Given the description of an element on the screen output the (x, y) to click on. 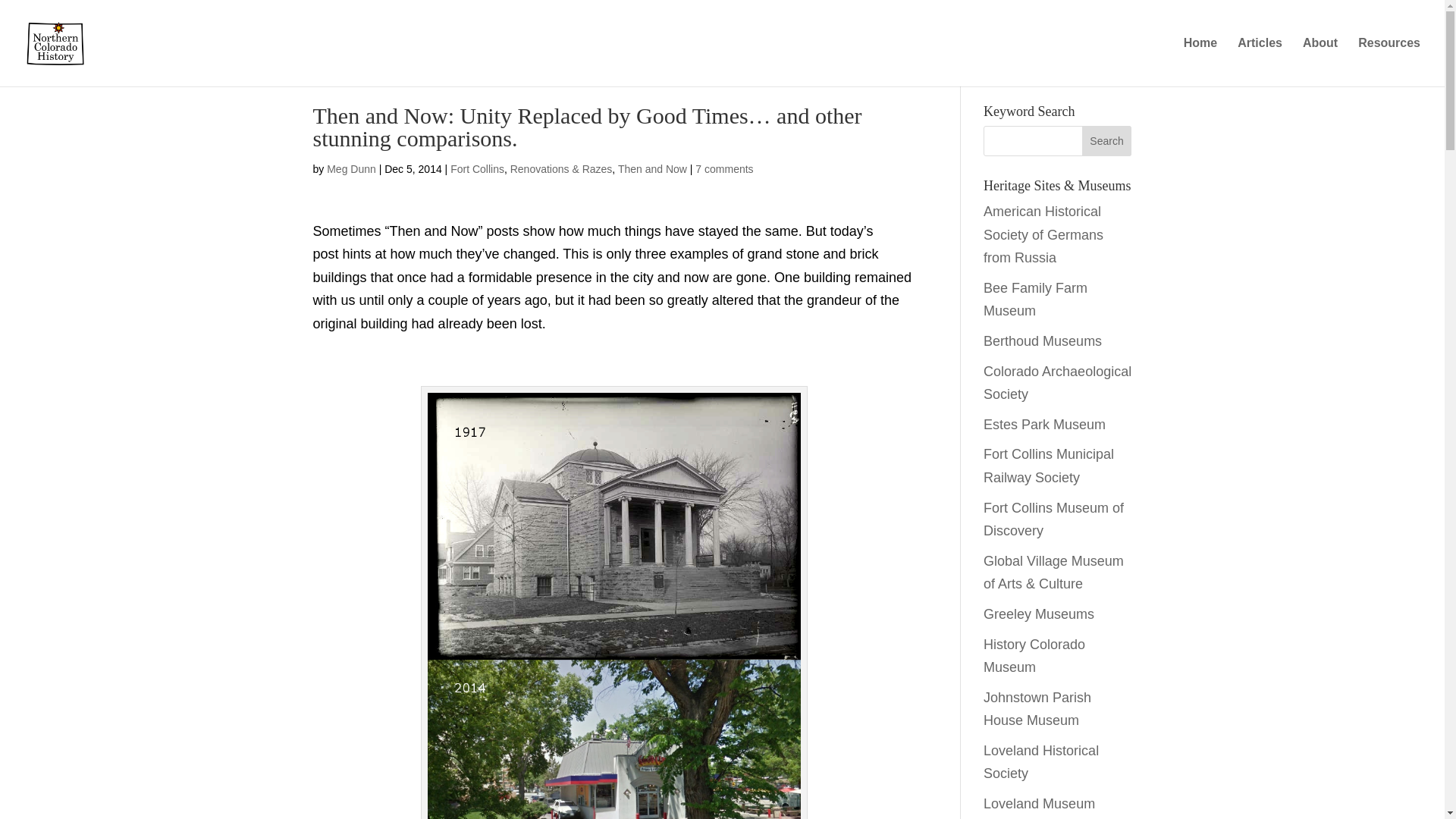
Fort Collins Municipal Railway Society (1048, 465)
Search (1106, 141)
Search (1106, 141)
History of Colorado. (1034, 656)
Posts by Meg Dunn (350, 168)
Meg Dunn (350, 168)
Berthoud Museums (1043, 340)
Fort Collins (476, 168)
Learn about local farm history and visit with the animals.  (1035, 299)
